Given the description of an element on the screen output the (x, y) to click on. 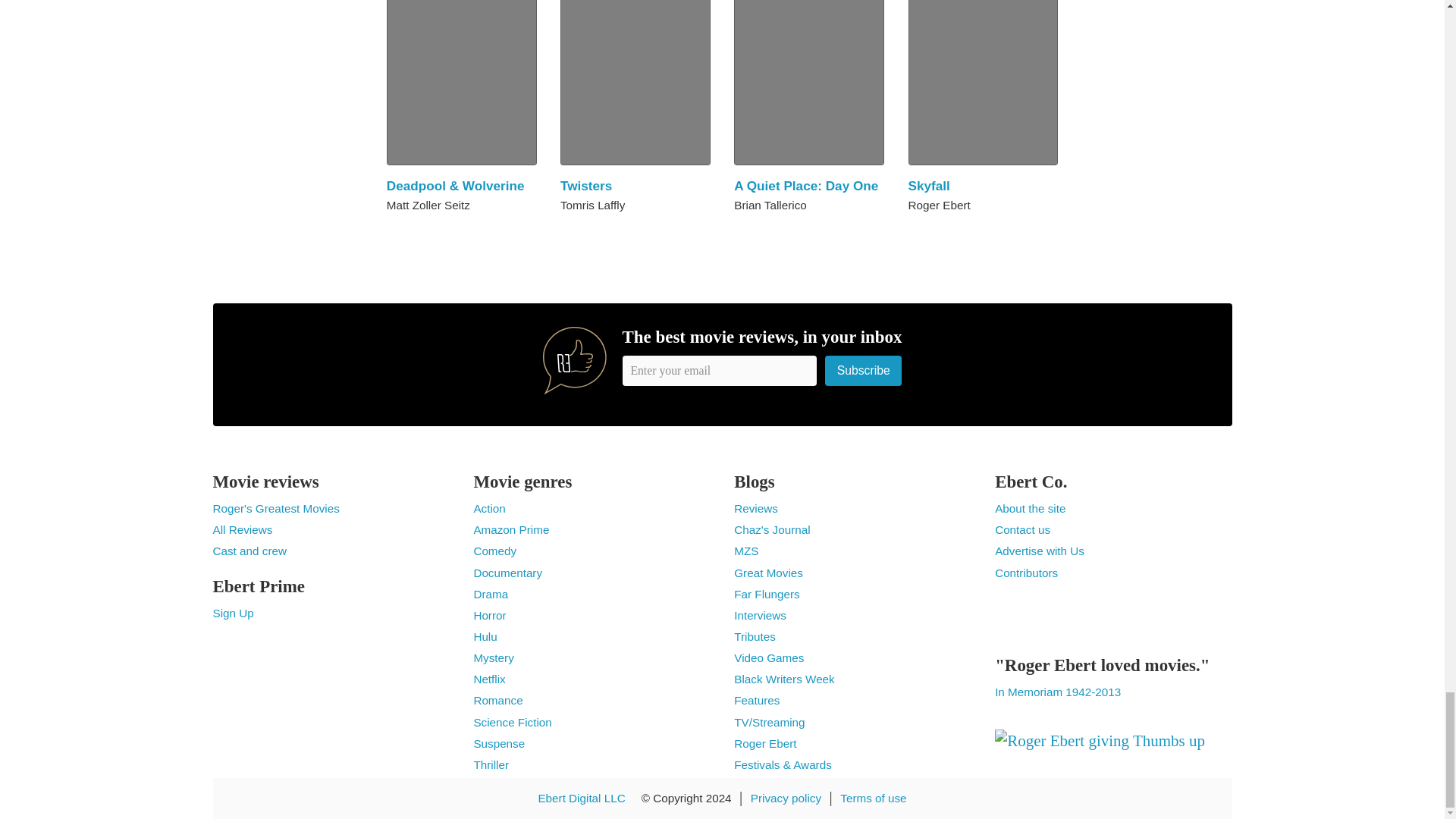
Subscribe (863, 369)
